Given the description of an element on the screen output the (x, y) to click on. 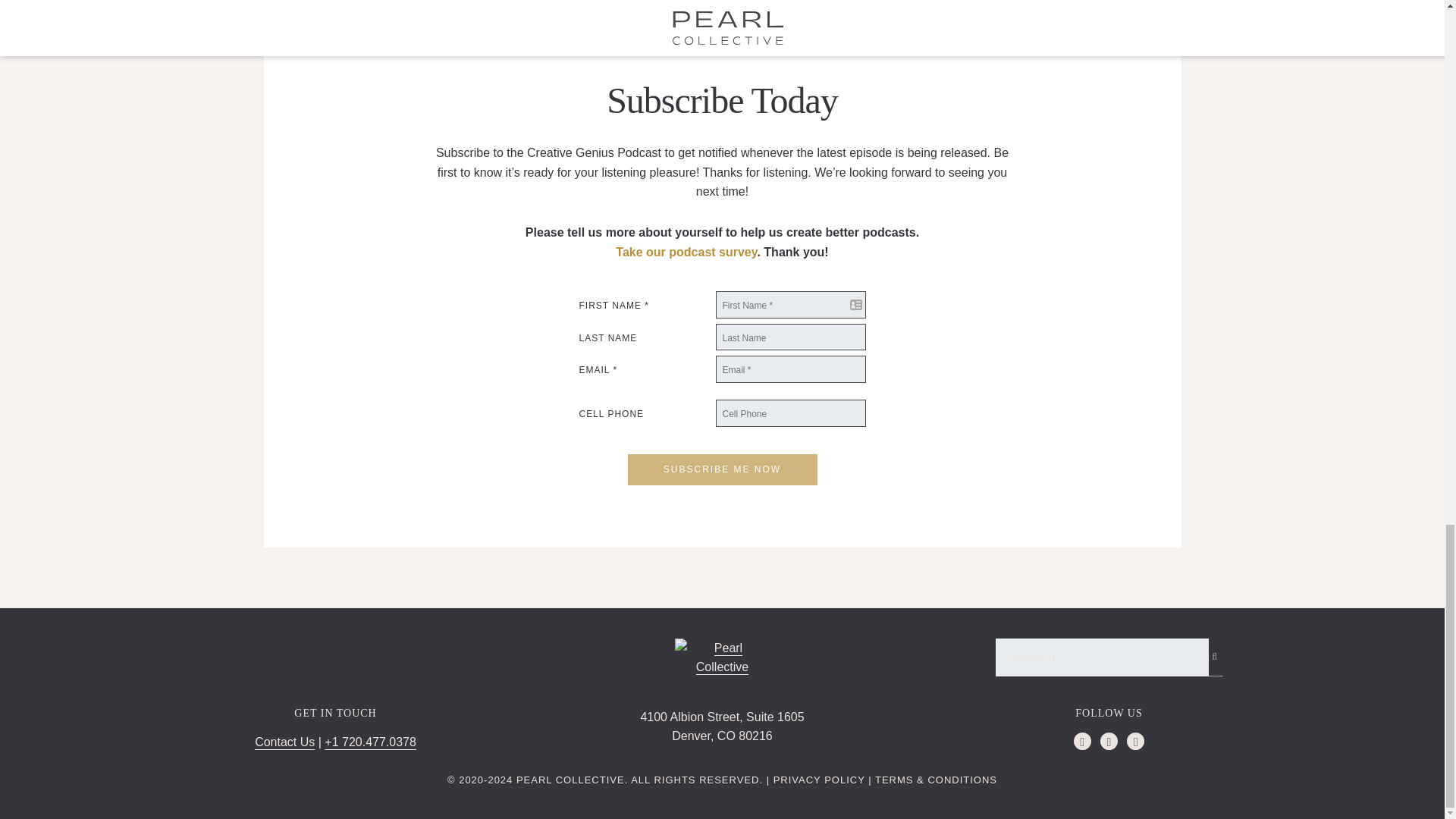
PRIVACY POLICY (818, 779)
Take our podcast survey (721, 726)
PEARL COLLECTIVE (686, 251)
SUBSCRIBE ME NOW (570, 779)
Contact Us (721, 469)
